Given the description of an element on the screen output the (x, y) to click on. 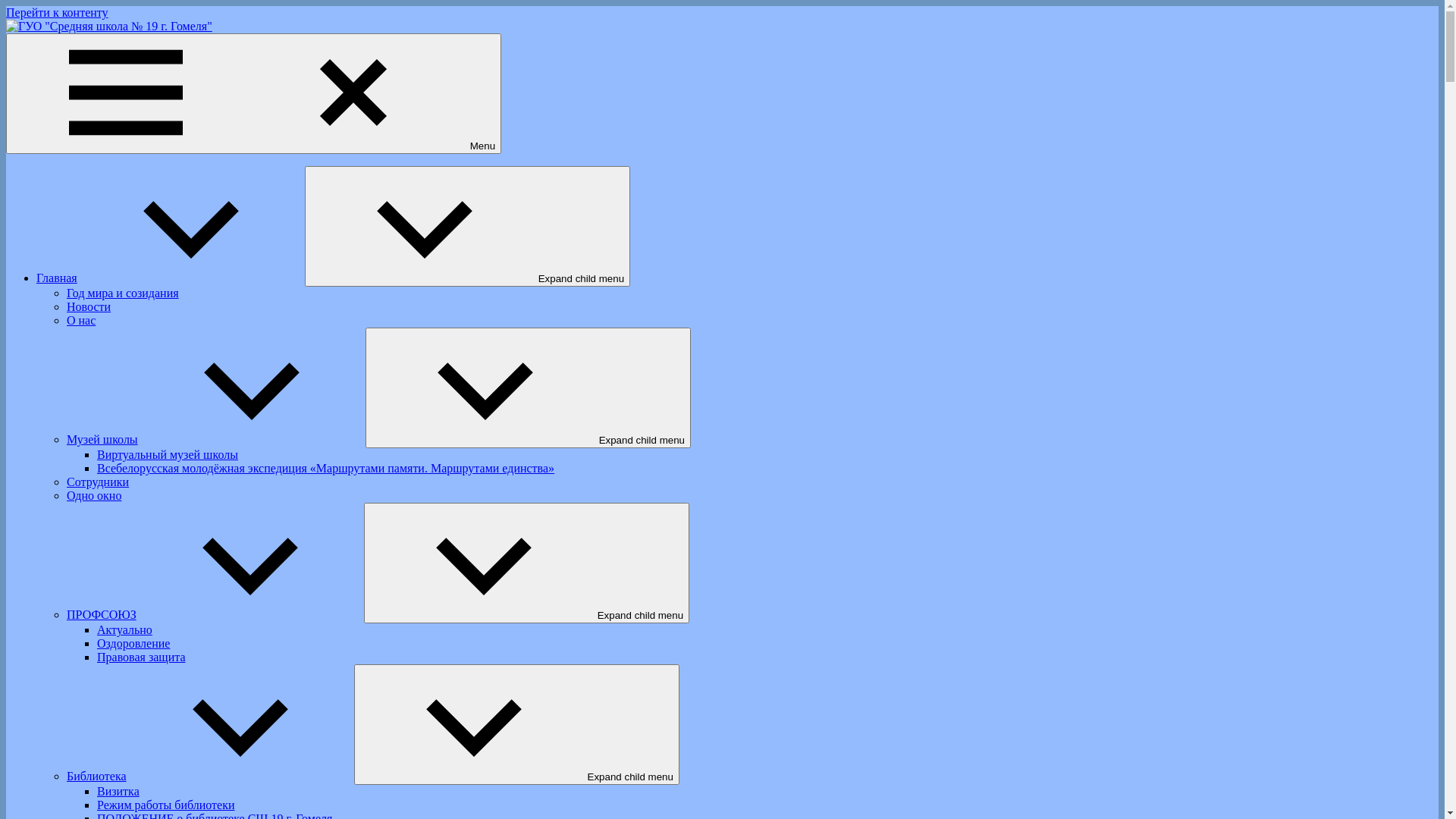
Expand child menu Element type: text (467, 226)
Expand child menu Element type: text (516, 724)
Expand child menu Element type: text (526, 562)
Menu Element type: text (253, 93)
Expand child menu Element type: text (527, 387)
